Given the description of an element on the screen output the (x, y) to click on. 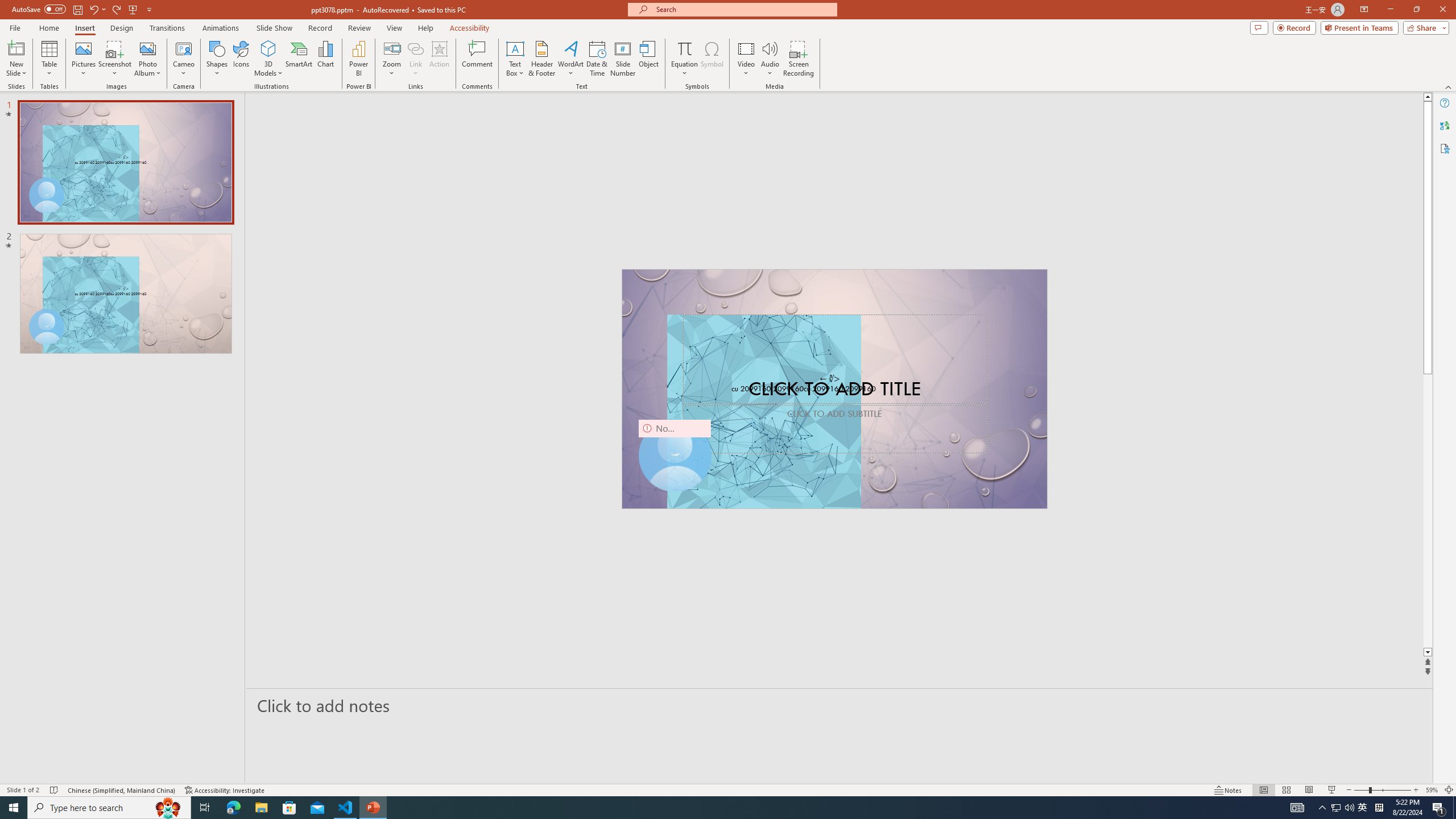
3D Models (268, 48)
SmartArt... (298, 58)
Link (415, 48)
Audio (769, 58)
TextBox 61 (833, 389)
Power BI (358, 58)
Object... (649, 58)
